Given the description of an element on the screen output the (x, y) to click on. 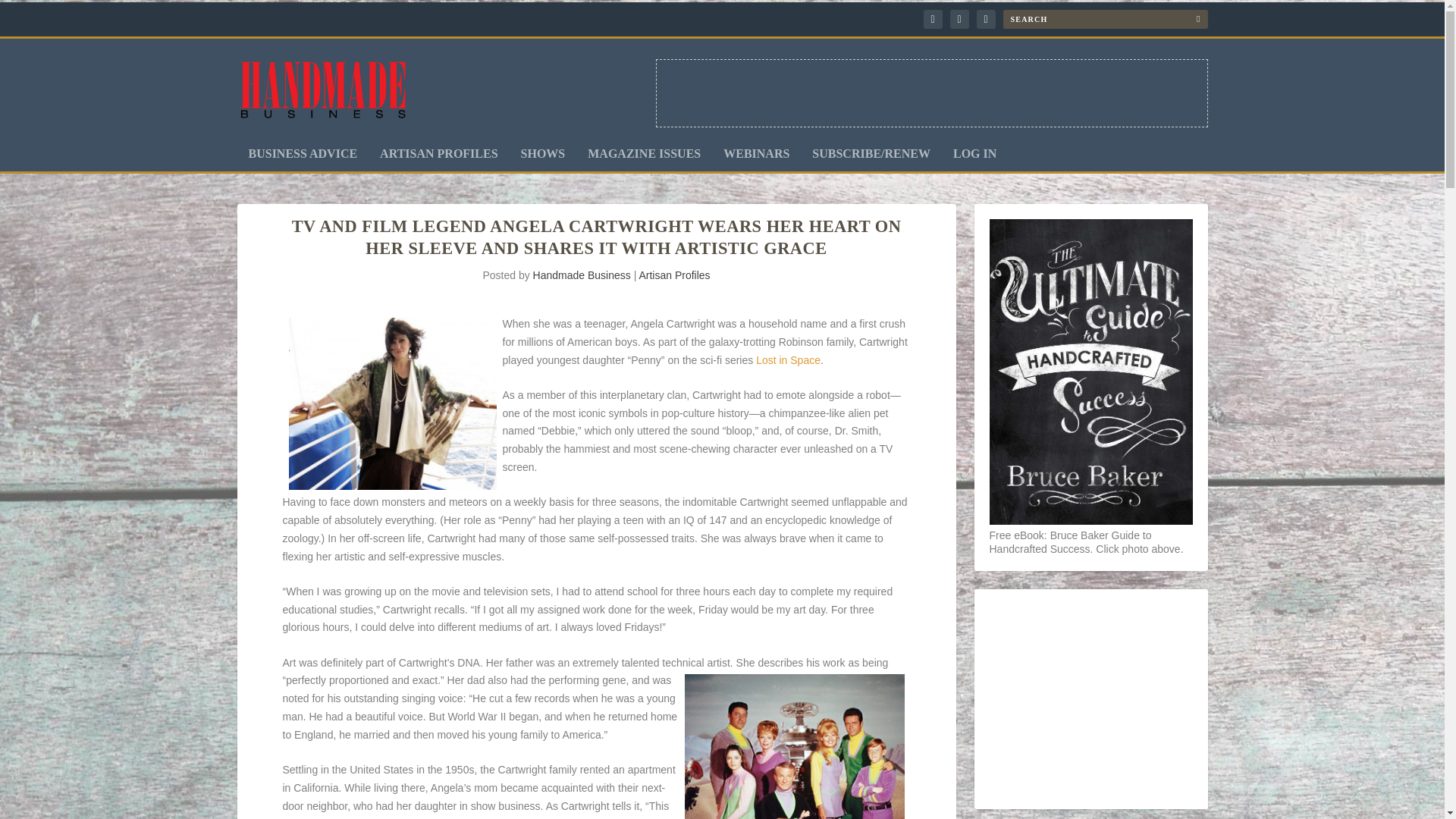
Lost in Space (788, 359)
Artisan Profiles (674, 275)
MAGAZINE ISSUES (644, 159)
Search for: (1105, 18)
LOG IN (974, 159)
WEBINARS (756, 159)
ARTISAN PROFILES (438, 159)
SHOWS (543, 159)
Handmade Business (581, 275)
Posts by Handmade Business (581, 275)
BUSINESS ADVICE (303, 159)
